Given the description of an element on the screen output the (x, y) to click on. 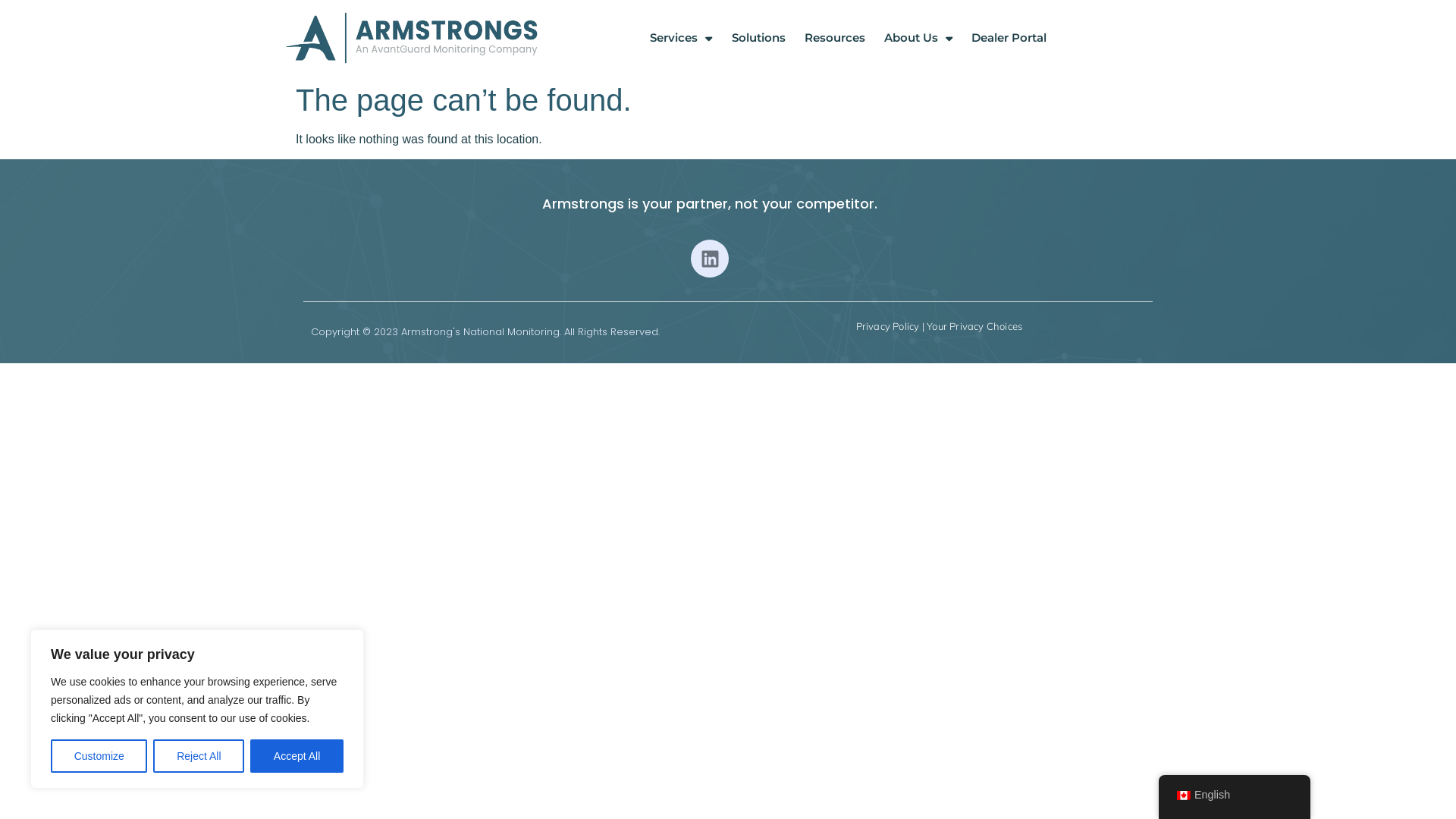
English Element type: hover (1183, 795)
  Element type: text (1023, 326)
About Us Element type: text (918, 37)
English Element type: text (1234, 795)
Dealer Portal Element type: text (1008, 37)
Services Element type: text (680, 37)
Resources Element type: text (834, 37)
Your Privacy Choices Element type: text (974, 326)
Privacy Policy Element type: text (887, 326)
Solutions Element type: text (758, 37)
 |  Element type: text (922, 326)
